Given the description of an element on the screen output the (x, y) to click on. 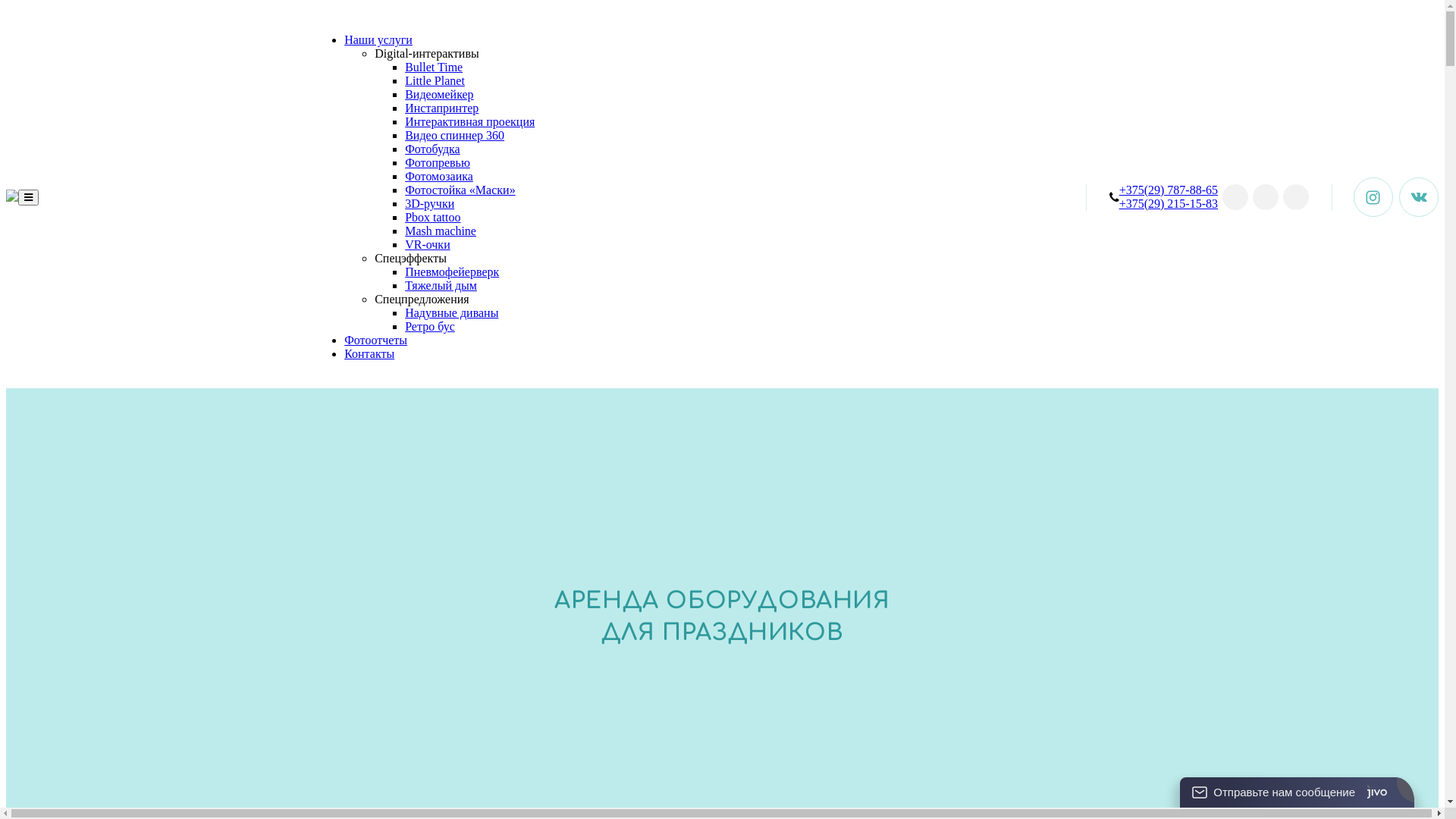
Little Planet Element type: text (434, 80)
Mash machine Element type: text (440, 230)
Pbox tattoo Element type: text (432, 216)
+375(29) 787-88-65 Element type: text (1168, 189)
Bullet Time Element type: text (433, 66)
+375(29) 215-15-83 Element type: text (1168, 203)
